Given the description of an element on the screen output the (x, y) to click on. 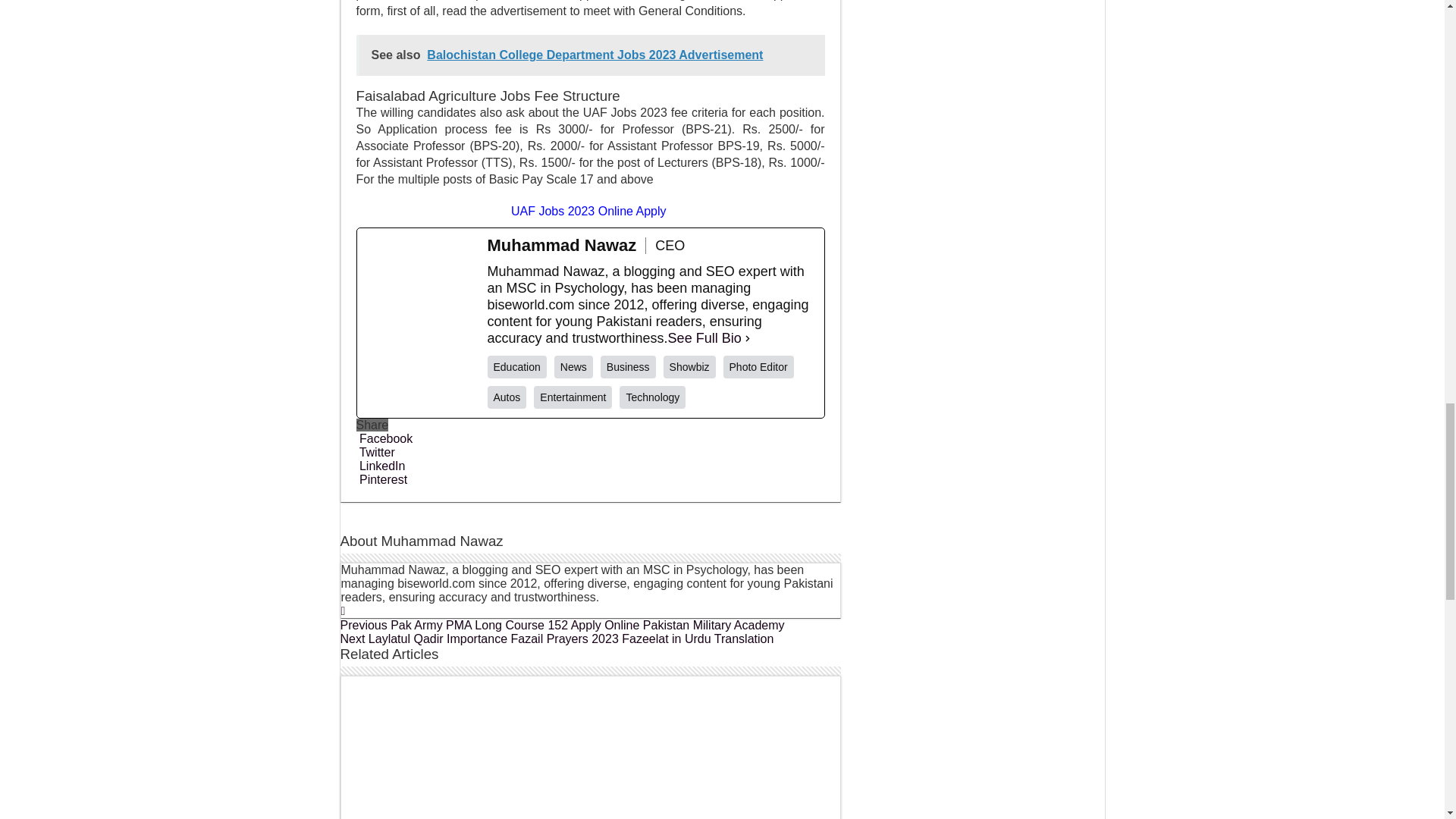
Twitter (375, 451)
See Full Bio (704, 338)
UAF Jobs 2023 Online Apply  (590, 210)
Facebook (384, 438)
Pinterest (381, 479)
LinkedIn (381, 465)
